Given the description of an element on the screen output the (x, y) to click on. 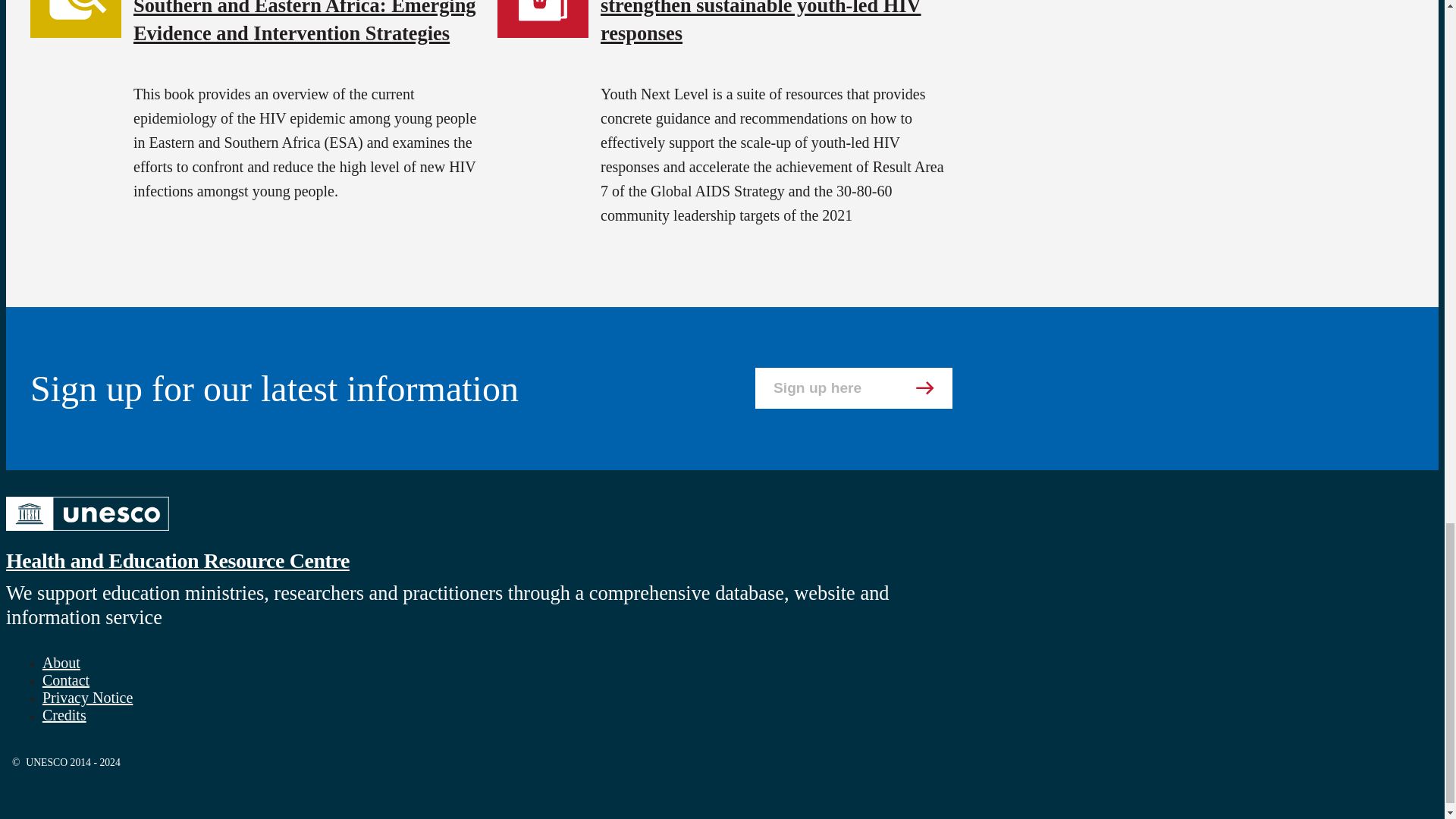
Home (177, 560)
Home (86, 532)
